Given the description of an element on the screen output the (x, y) to click on. 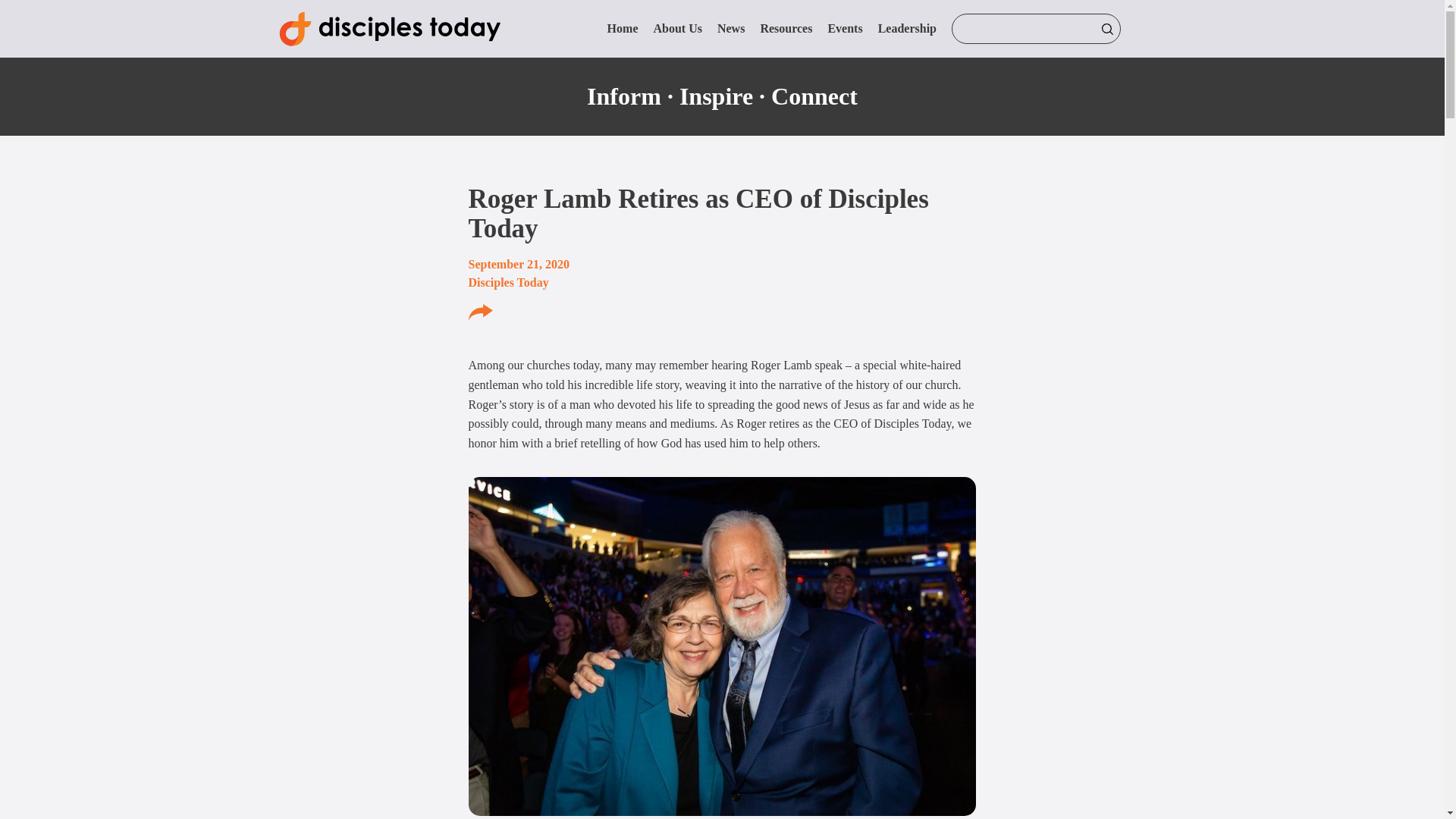
Leadership (906, 28)
Resources (785, 28)
Home (622, 28)
Events (844, 28)
About Us (677, 28)
News (731, 28)
